Given the description of an element on the screen output the (x, y) to click on. 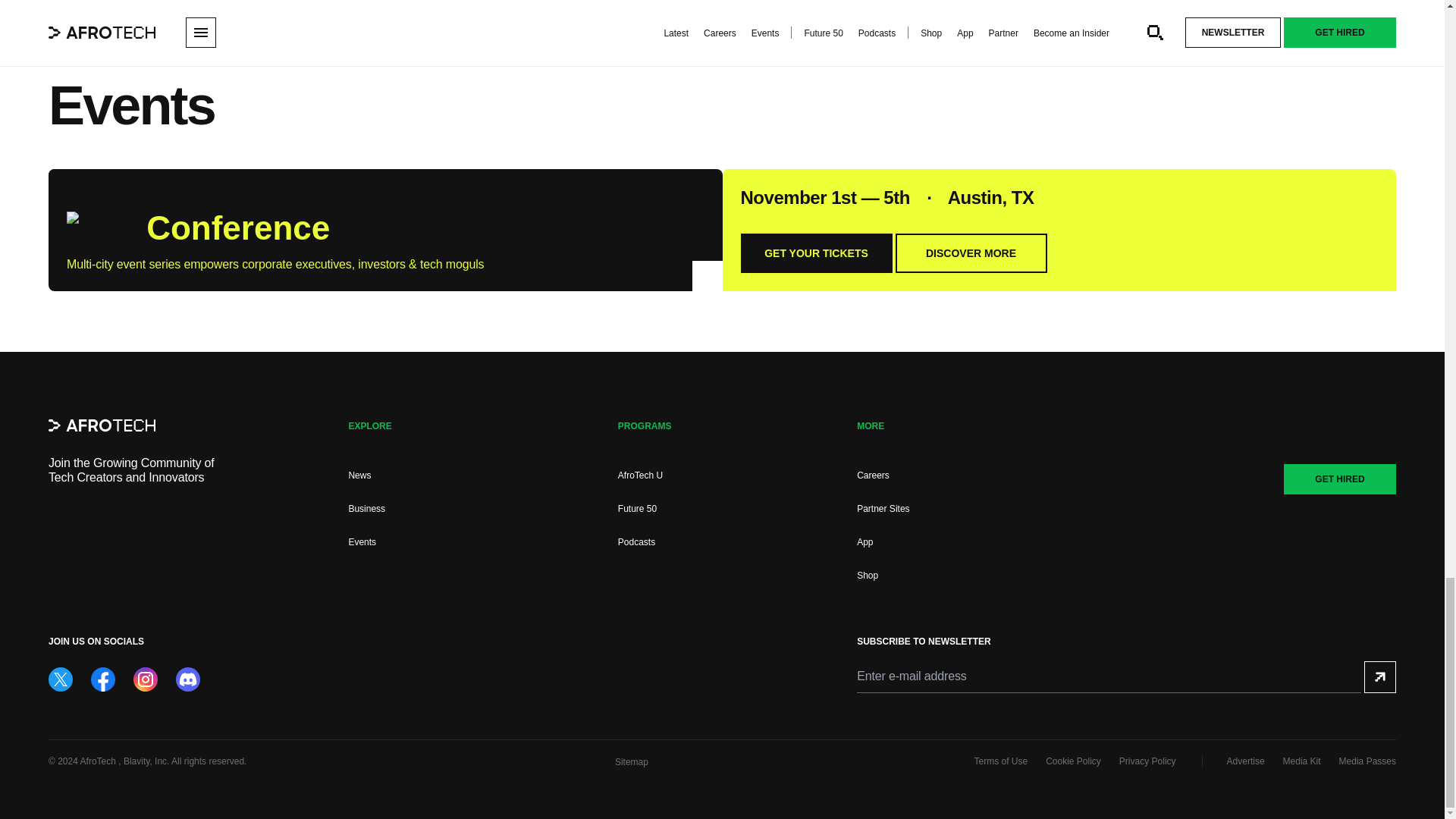
Business (366, 508)
Careers (873, 475)
GET YOUR TICKETS (815, 252)
Future 50 (636, 508)
News (359, 475)
conference (102, 225)
Podcasts (636, 542)
Partner Sites (882, 508)
Events (361, 542)
AfroTech U (639, 475)
